Given the description of an element on the screen output the (x, y) to click on. 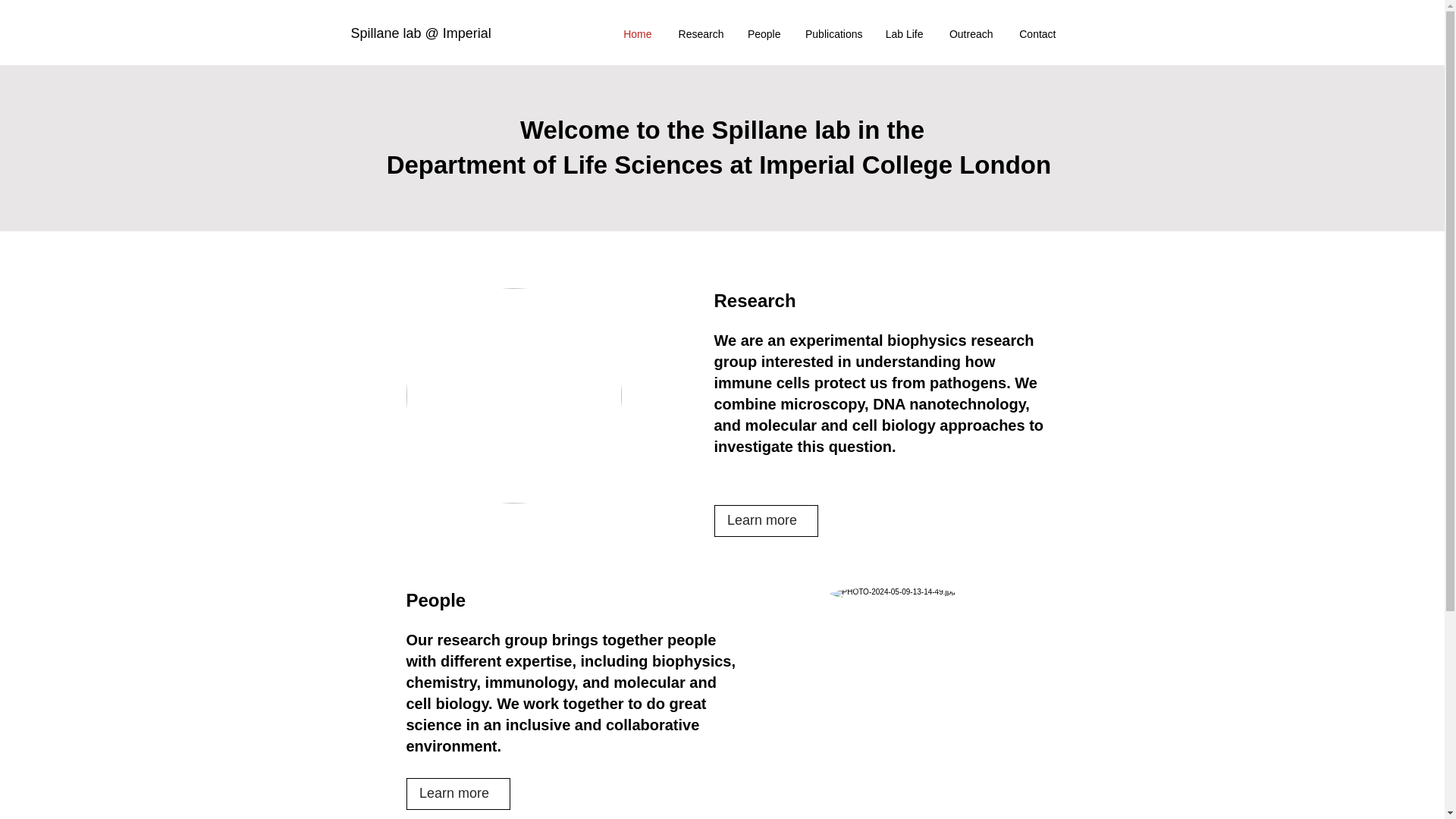
Learn more (458, 793)
Contact (1035, 34)
Learn more (766, 521)
Home (637, 34)
Publications (832, 34)
People (763, 34)
Research (698, 34)
Lab Life (903, 34)
Outreach (969, 34)
Bcell.jpg (513, 395)
